Given the description of an element on the screen output the (x, y) to click on. 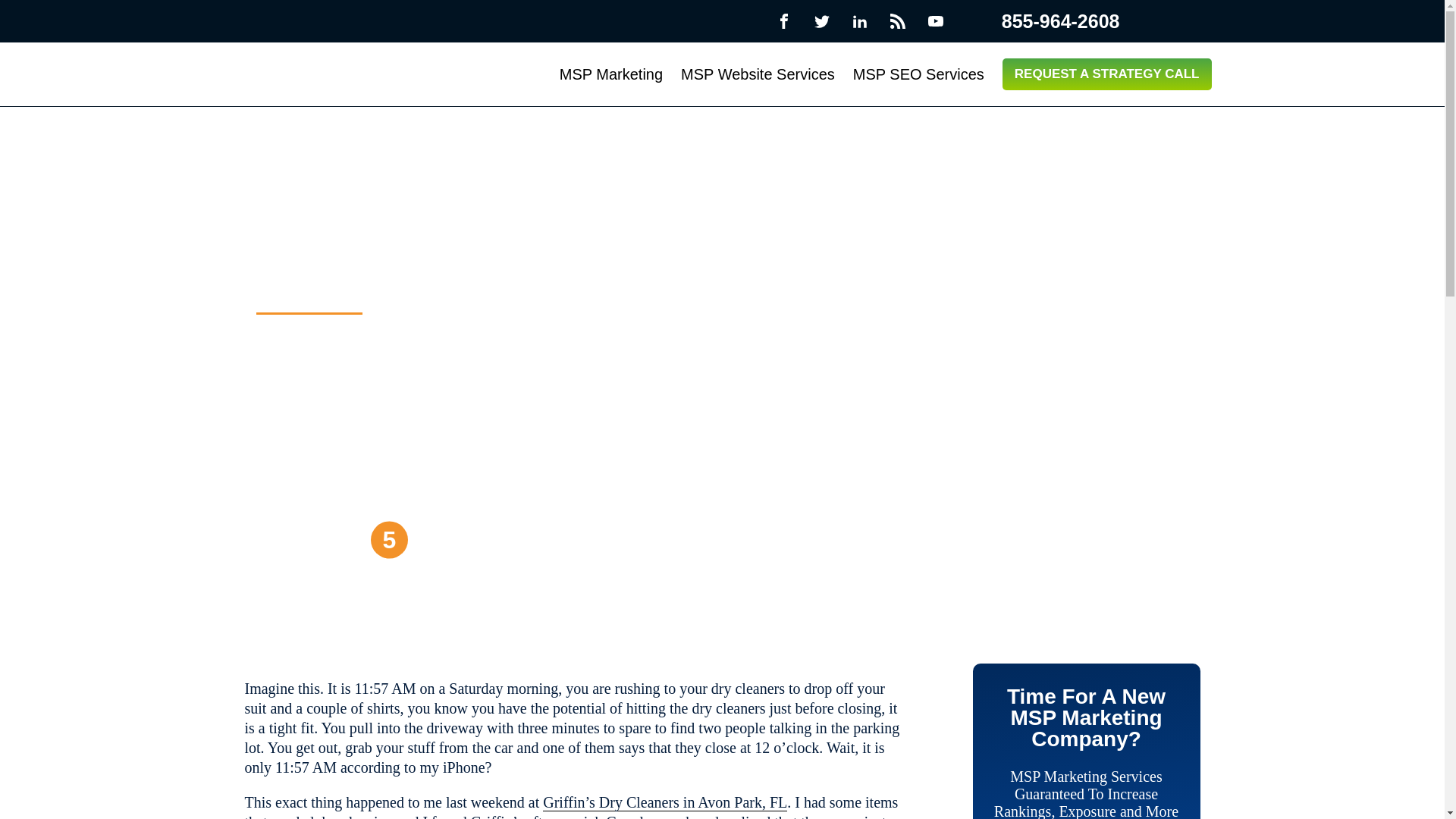
JOIN US NOW (331, 539)
REQUEST A STRATEGY CALL (1107, 74)
MSP SEO Services (918, 74)
MSP Website Services (757, 74)
855-964-2608 (1046, 20)
MSP Marketing (610, 74)
